Given the description of an element on the screen output the (x, y) to click on. 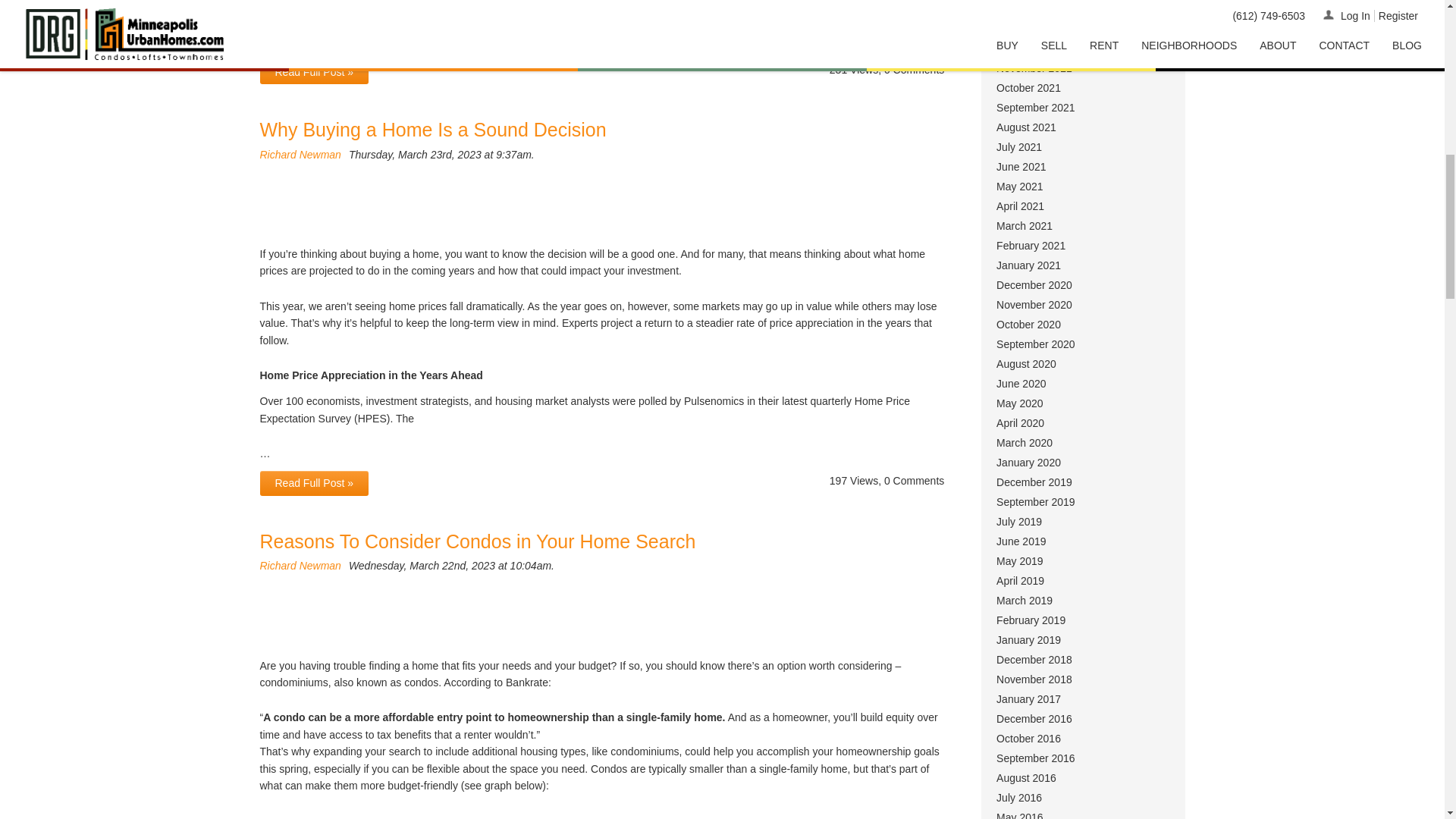
Richard Newman (299, 154)
Why Buying a Home Is a Sound Decision (432, 129)
Read Full Post (313, 482)
Richard Newman (299, 565)
Reasons To Consider Condos in Your Home Search (477, 541)
Read Full Post (313, 71)
Reasons To Consider Condos in Your Home Search (477, 541)
Why Buying a Home Is a Sound Decision (432, 129)
